Given the description of an element on the screen output the (x, y) to click on. 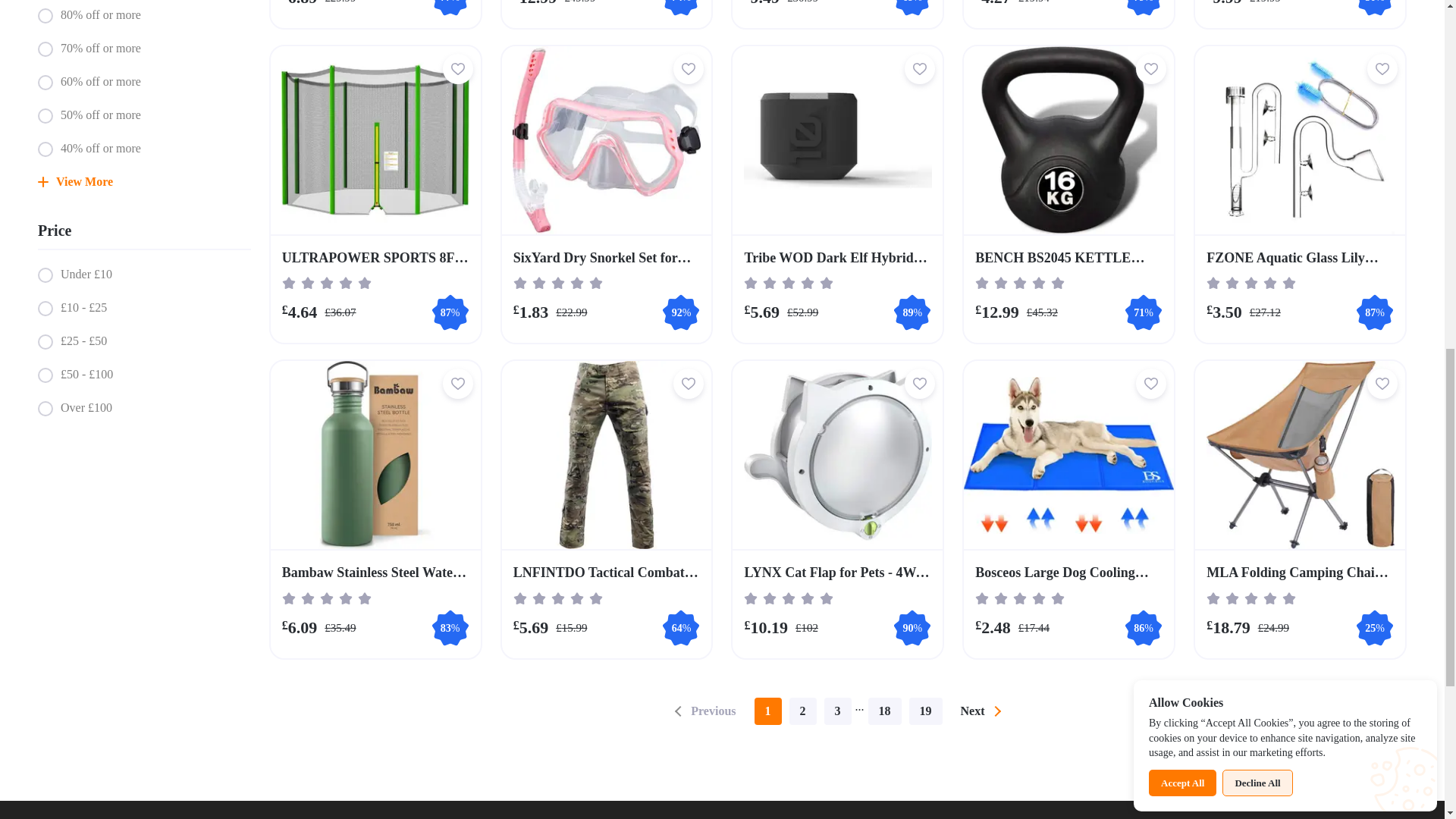
wishlist (457, 69)
discount-80 (44, 15)
wishlist (688, 69)
discount-40 (44, 149)
discount-50 (44, 115)
discount-70 (44, 48)
wishlist (919, 69)
discount-60 (44, 82)
